Given the description of an element on the screen output the (x, y) to click on. 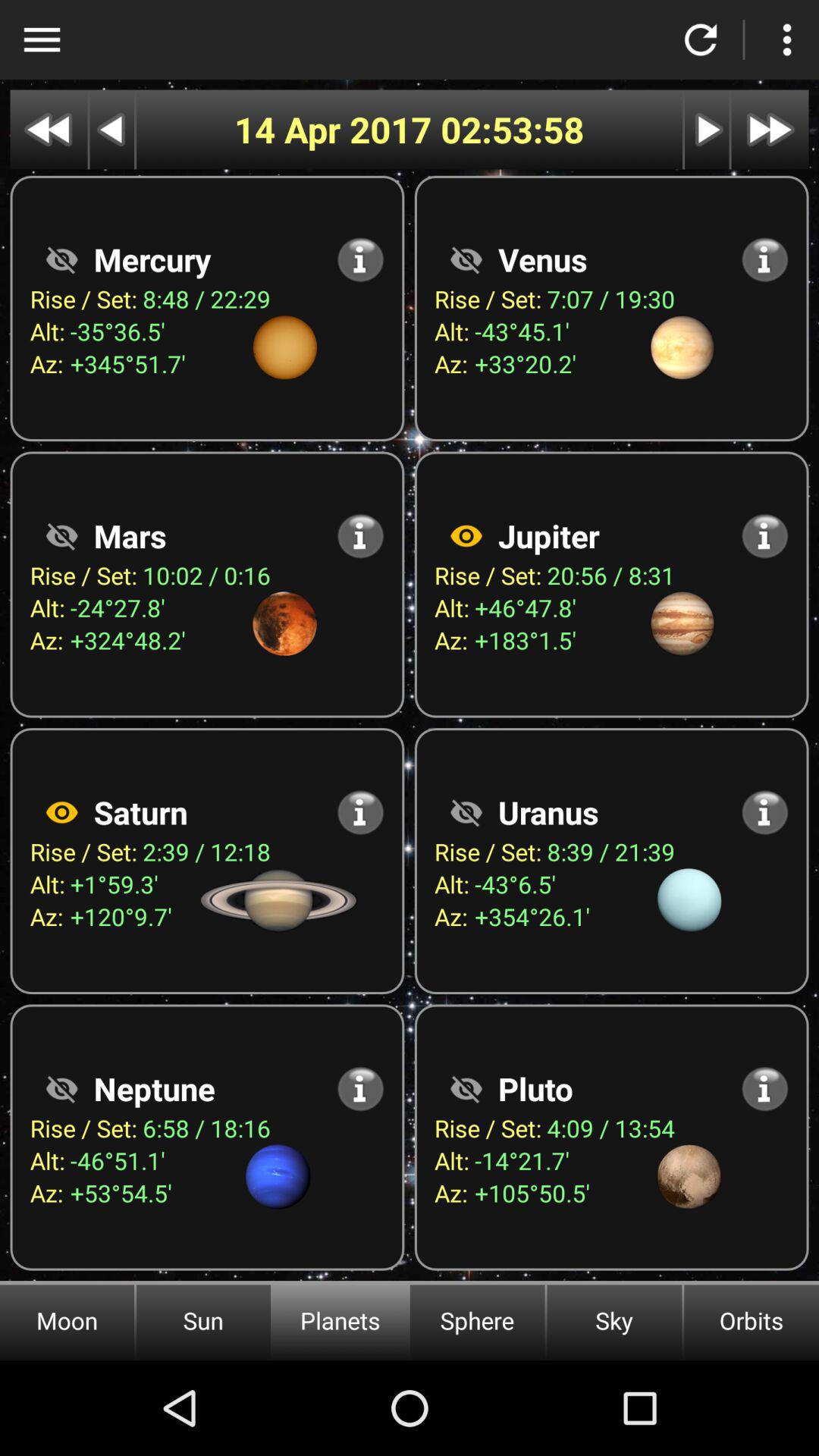
go to the latest page (769, 129)
